Given the description of an element on the screen output the (x, y) to click on. 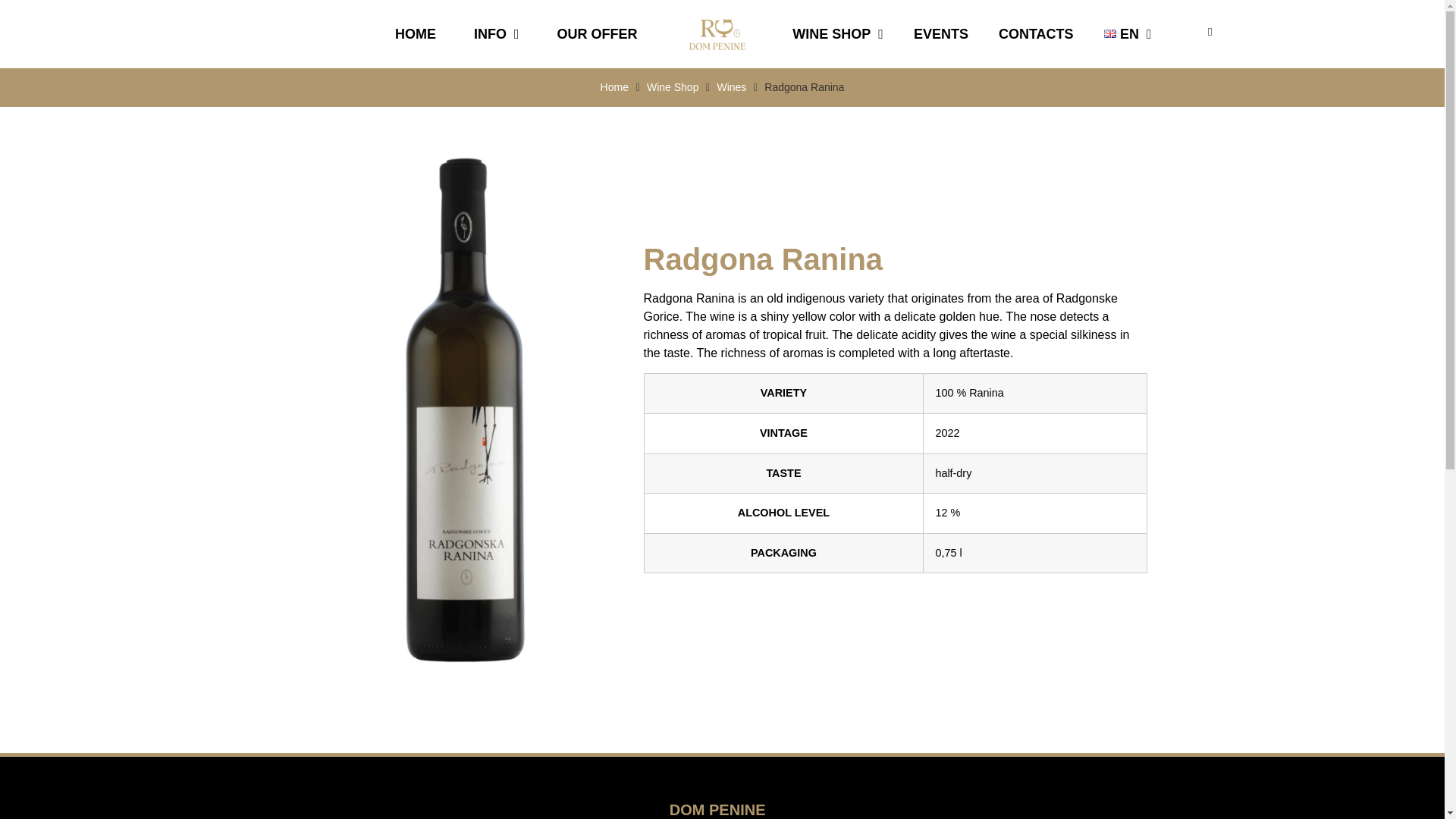
Wines (730, 87)
WINE SHOP (837, 33)
HOME (414, 33)
Home (613, 87)
OUR OFFER (597, 33)
INFO (496, 33)
Wine Shop (672, 87)
